Given the description of an element on the screen output the (x, y) to click on. 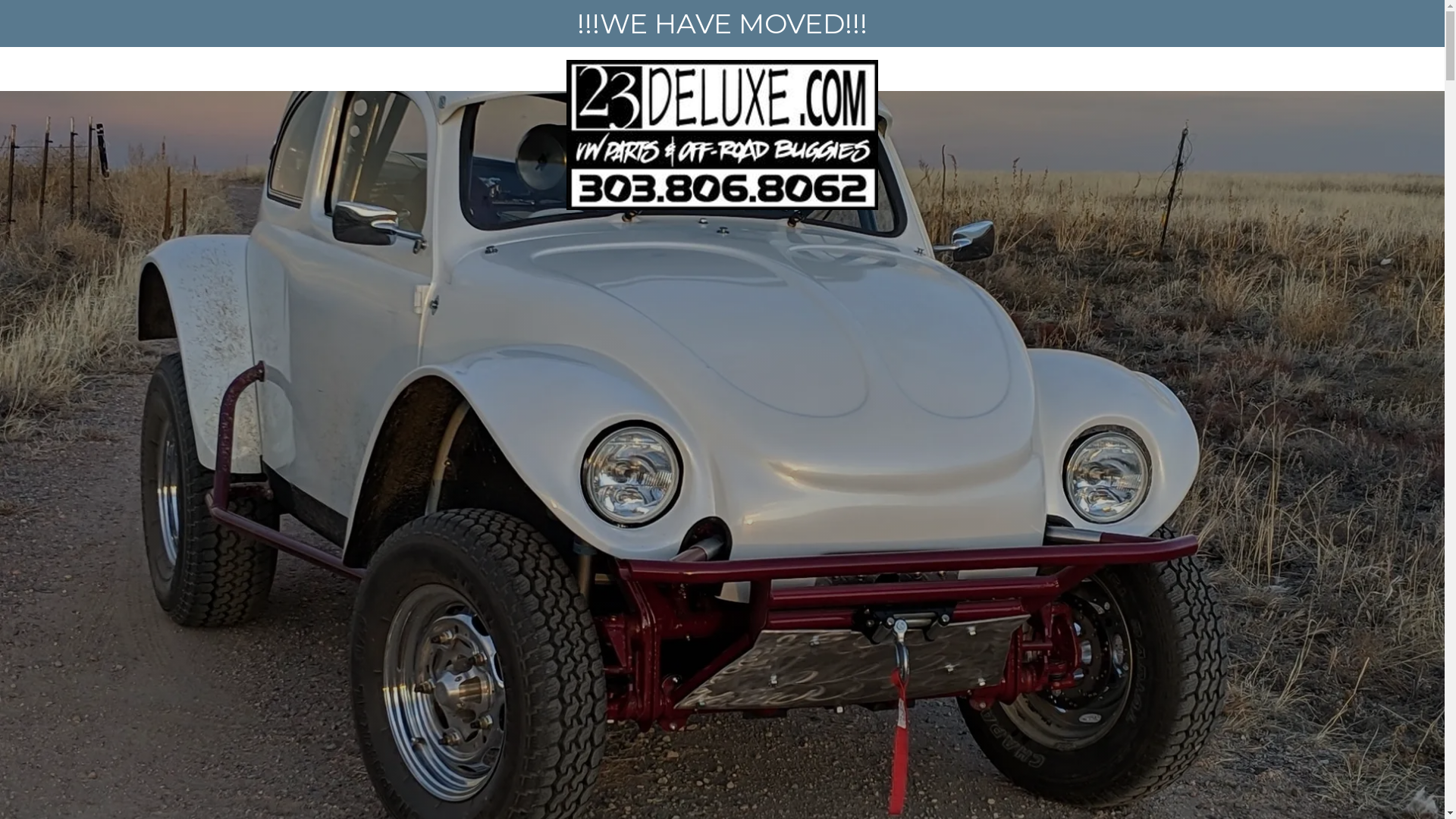
23 Deluxe Inc. Element type: hover (722, 65)
